Given the description of an element on the screen output the (x, y) to click on. 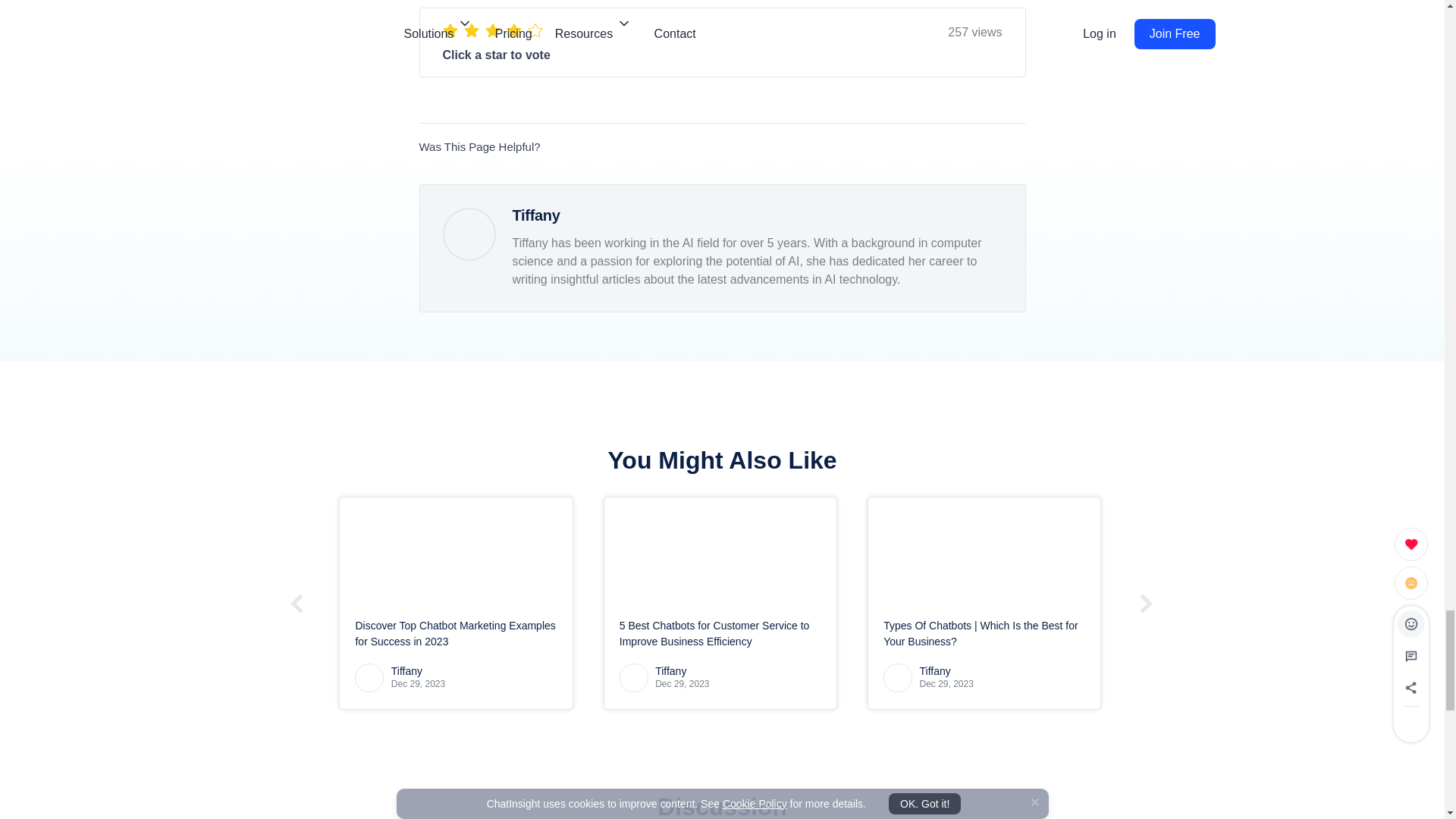
Discover Top Chatbot Marketing Examples for Success in 2023 (455, 634)
Discover Top Chatbot Marketing Examples for Success in 2023 (455, 551)
